Given the description of an element on the screen output the (x, y) to click on. 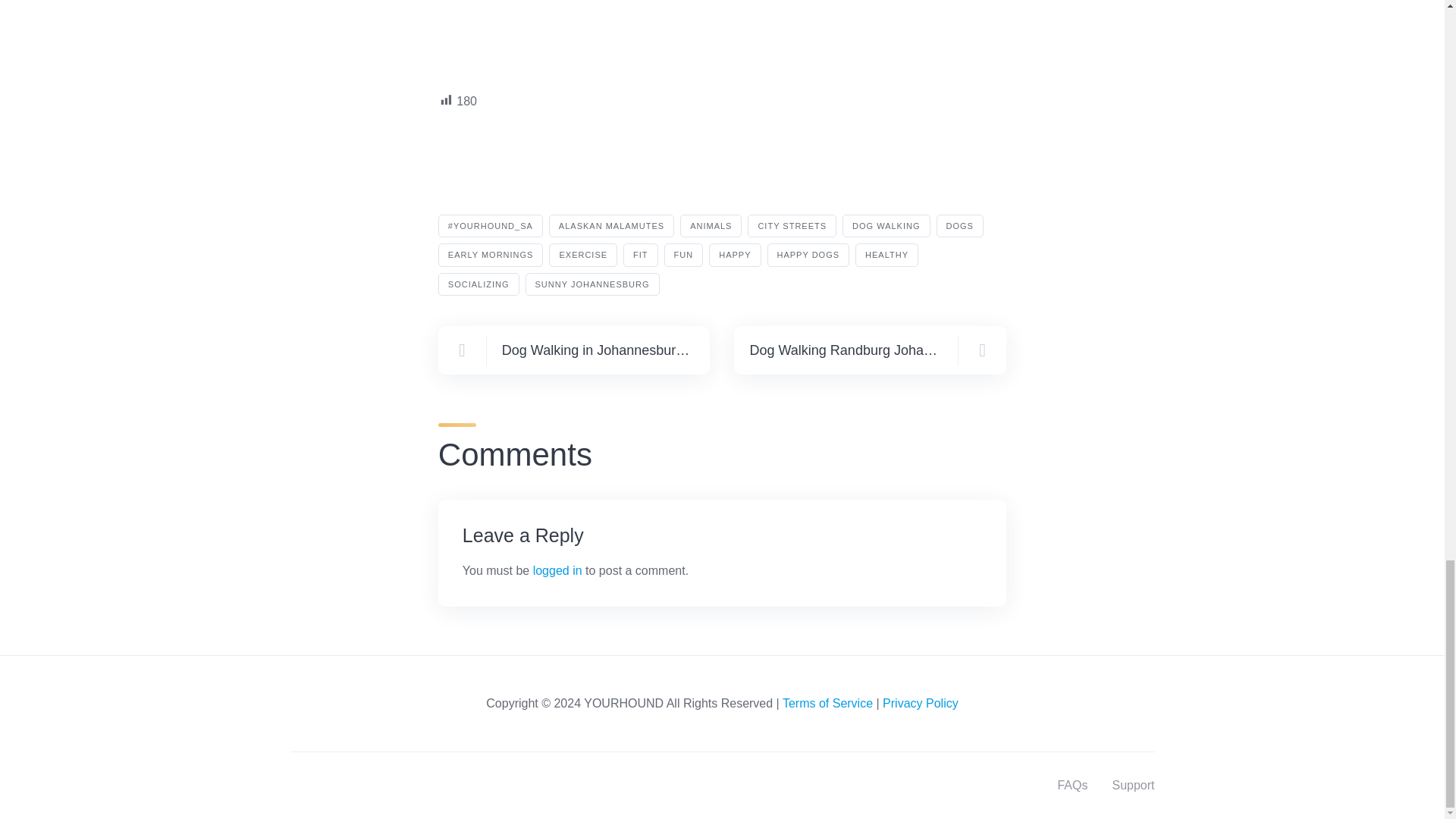
EARLY MORNINGS (490, 254)
DOGS (960, 226)
HAPPY (734, 254)
FUN (683, 254)
Support (1133, 784)
Dog Walking Randburg Johannesburg (869, 349)
HEALTHY (887, 254)
ALASKAN MALAMUTES (611, 226)
ANIMALS (710, 226)
CITY STREETS (791, 226)
